Given the description of an element on the screen output the (x, y) to click on. 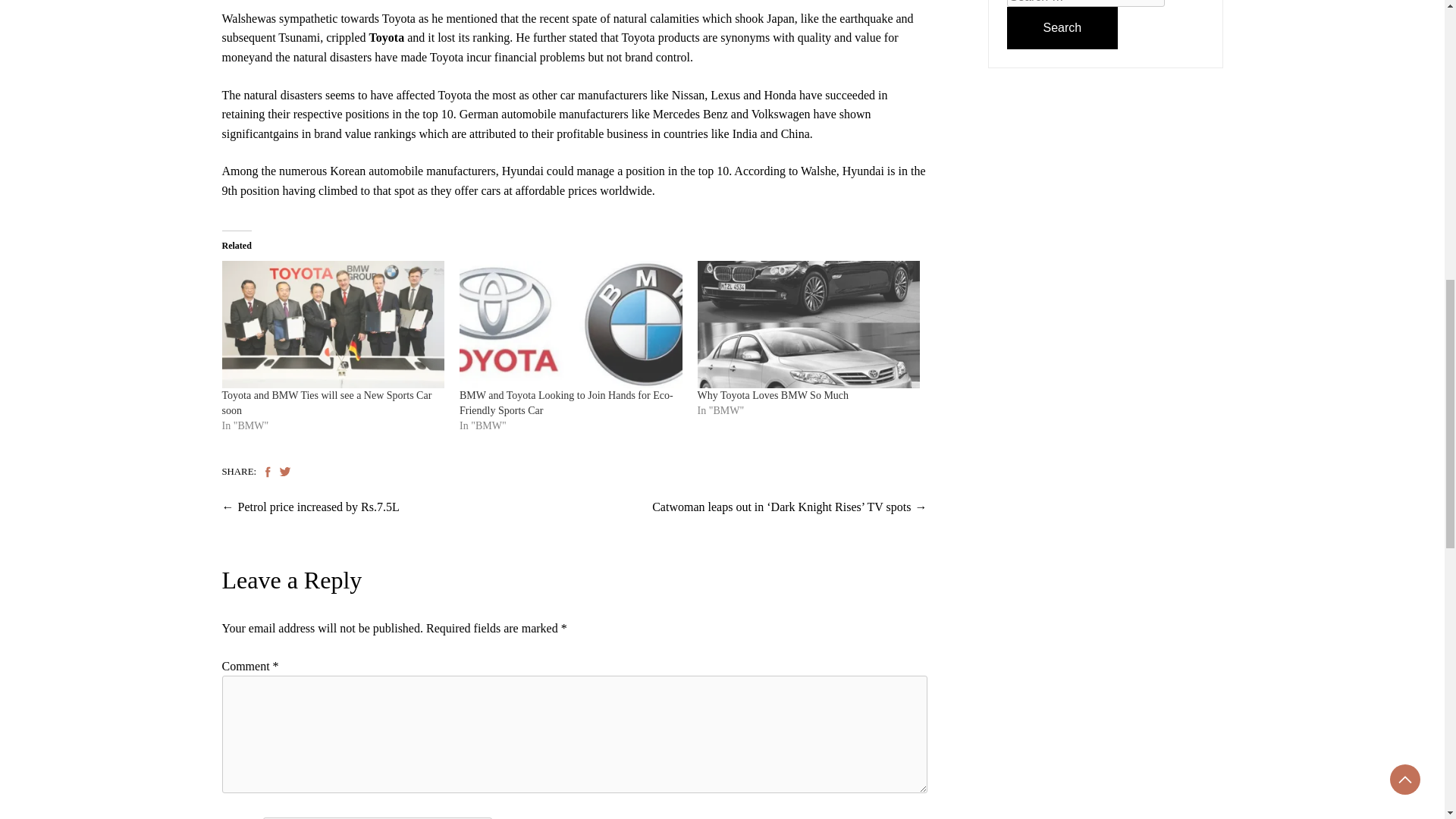
Toyota cars in India (386, 37)
Why Toyota Loves BMW So Much (772, 395)
Toyota and BMW Ties will see a New Sports Car soon (325, 402)
Petrol price increased by Rs.7.5L (318, 506)
Toyota (386, 37)
Why Toyota Loves BMW So Much (772, 395)
Why Toyota Loves BMW So Much (808, 324)
Toyota and BMW Ties will see a New Sports Car soon (325, 402)
Search (1062, 27)
Search (1062, 27)
Toyota and BMW Ties will see a New Sports Car soon (332, 324)
